Given the description of an element on the screen output the (x, y) to click on. 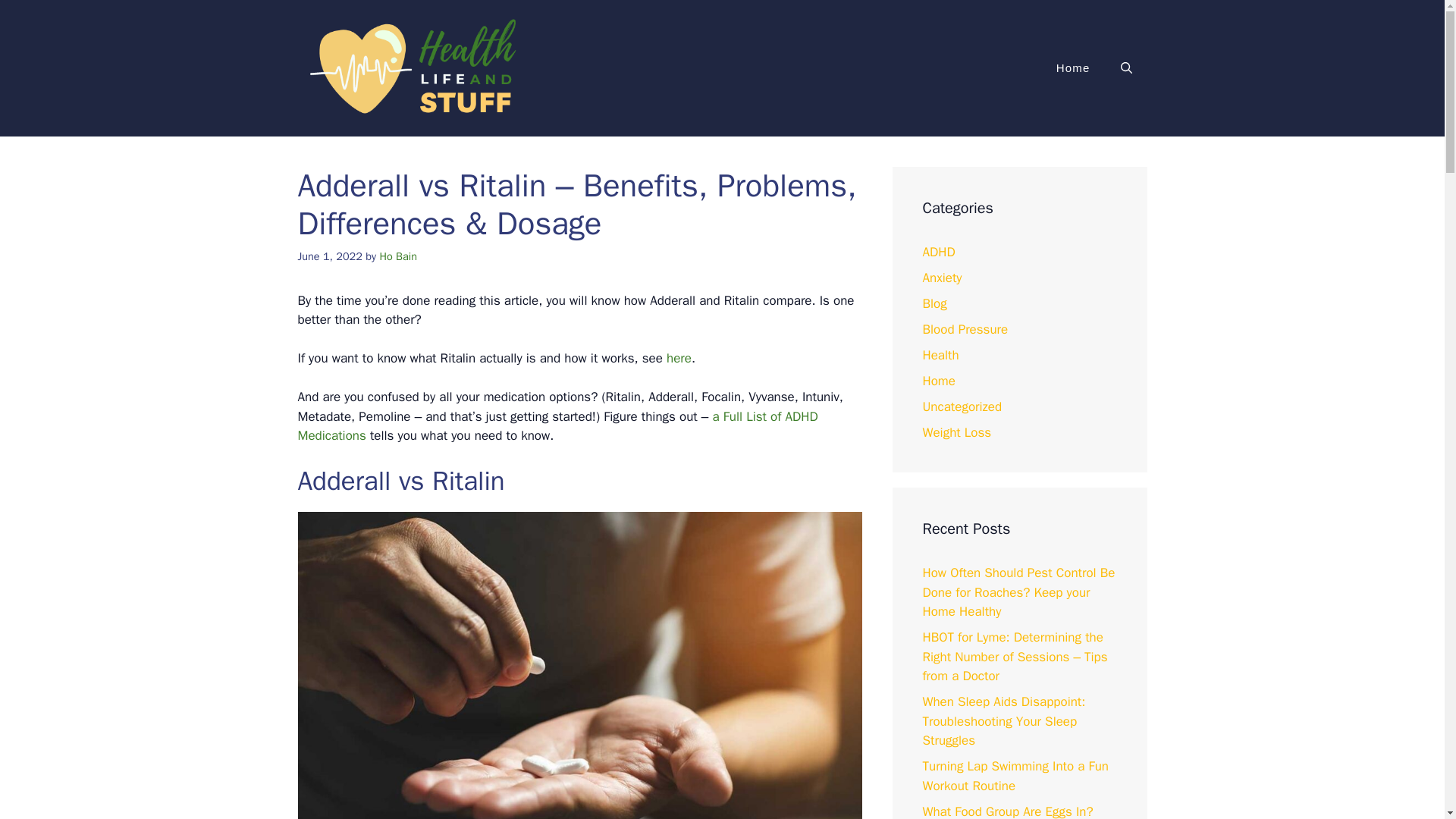
ADHD (938, 252)
Health (939, 355)
here (678, 358)
View all posts by Ho Bain (397, 255)
Home (1073, 67)
Blog (933, 303)
Home (938, 381)
Uncategorized (961, 406)
